Given the description of an element on the screen output the (x, y) to click on. 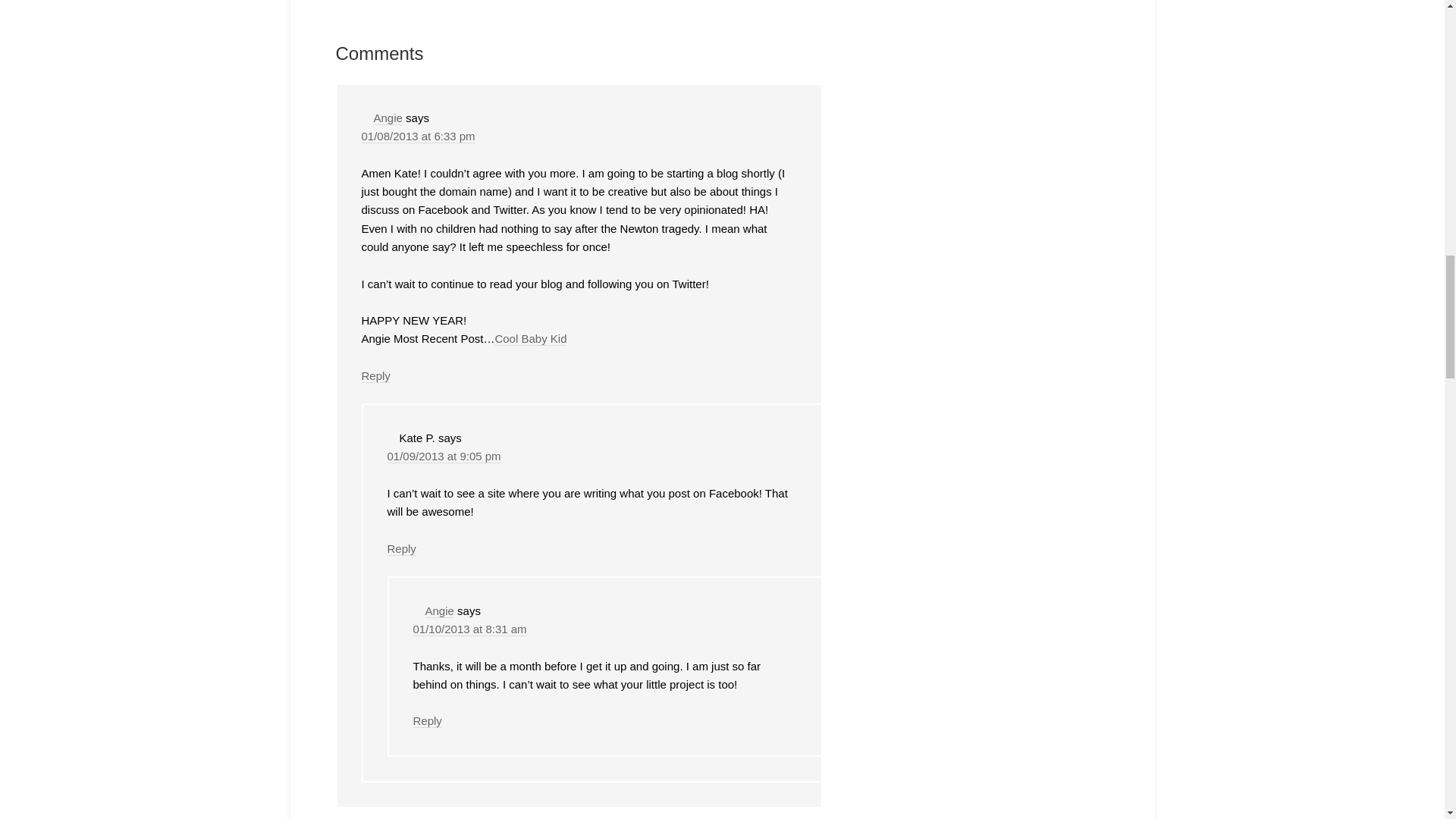
Angie (386, 118)
Reply (426, 721)
Cool Baby Kid (530, 338)
Angie (438, 611)
Reply (400, 549)
Reply (375, 376)
